Given the description of an element on the screen output the (x, y) to click on. 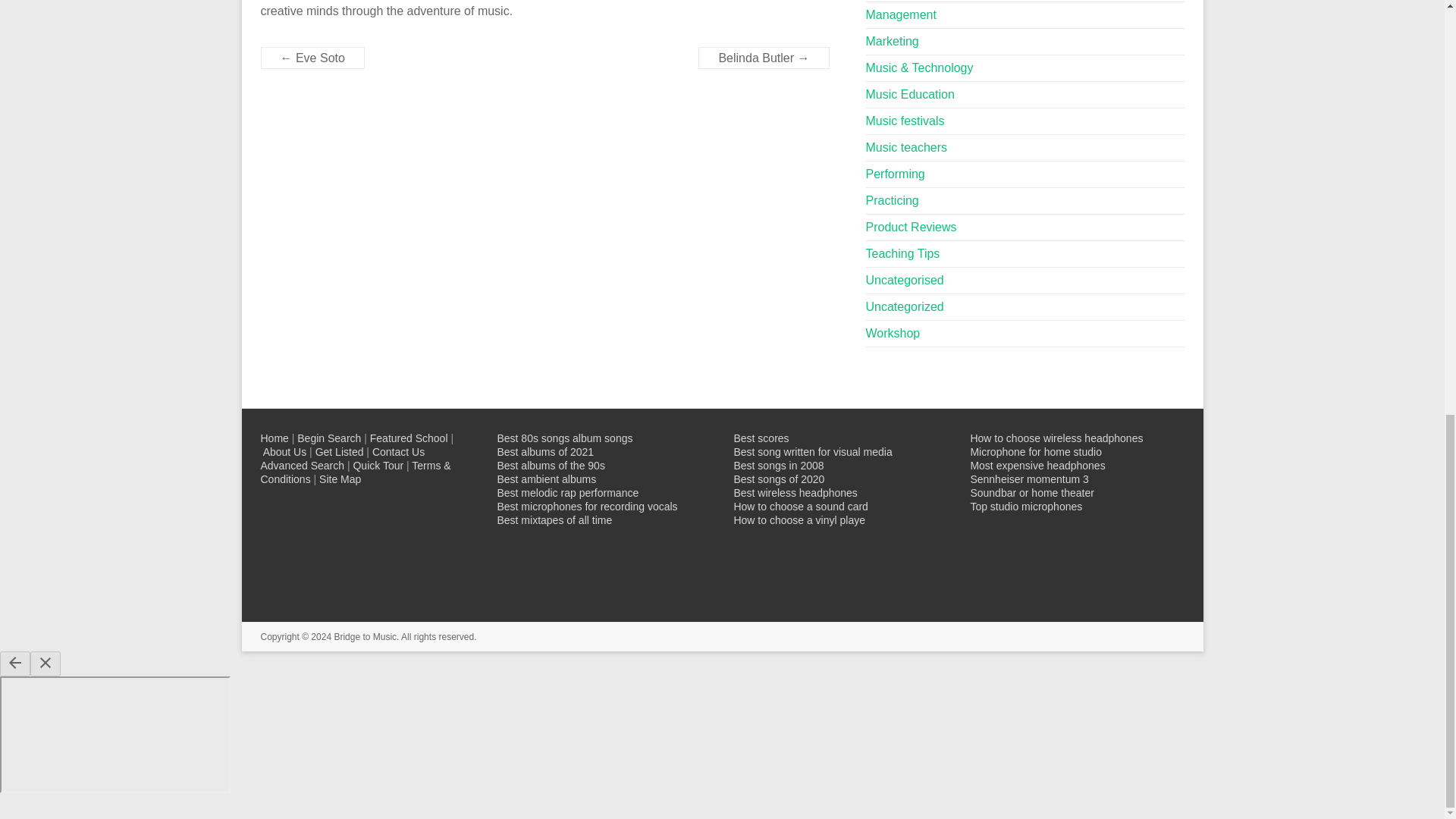
Music teachers (906, 146)
Bridge to Music (364, 636)
Music Education (910, 93)
Performing (895, 173)
Practicing (892, 200)
Marketing (892, 41)
Music festivals (905, 120)
Management (901, 14)
